Given the description of an element on the screen output the (x, y) to click on. 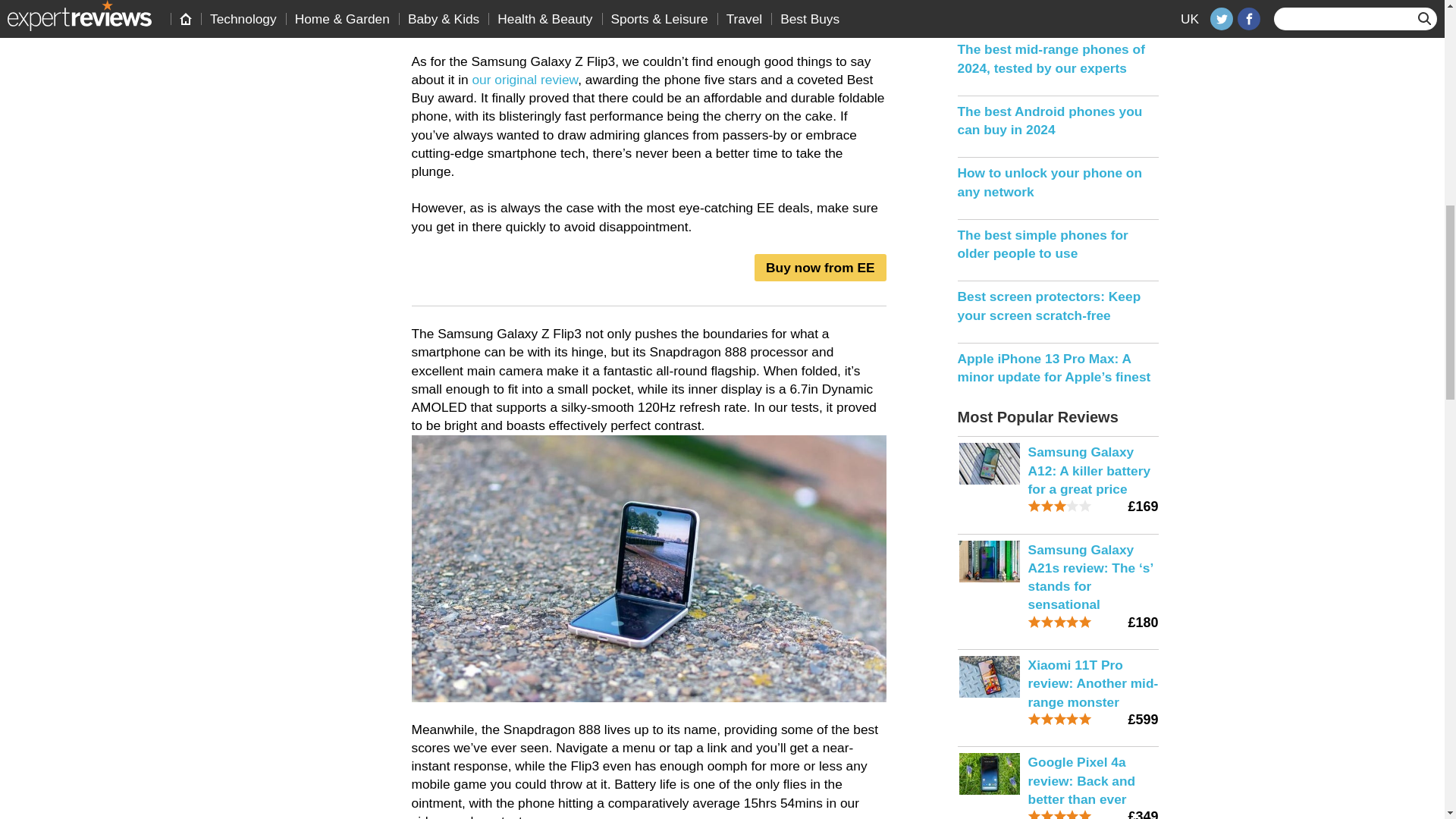
Buy now from EE (819, 267)
according to Opensignal (481, 23)
our original review (524, 79)
